Given the description of an element on the screen output the (x, y) to click on. 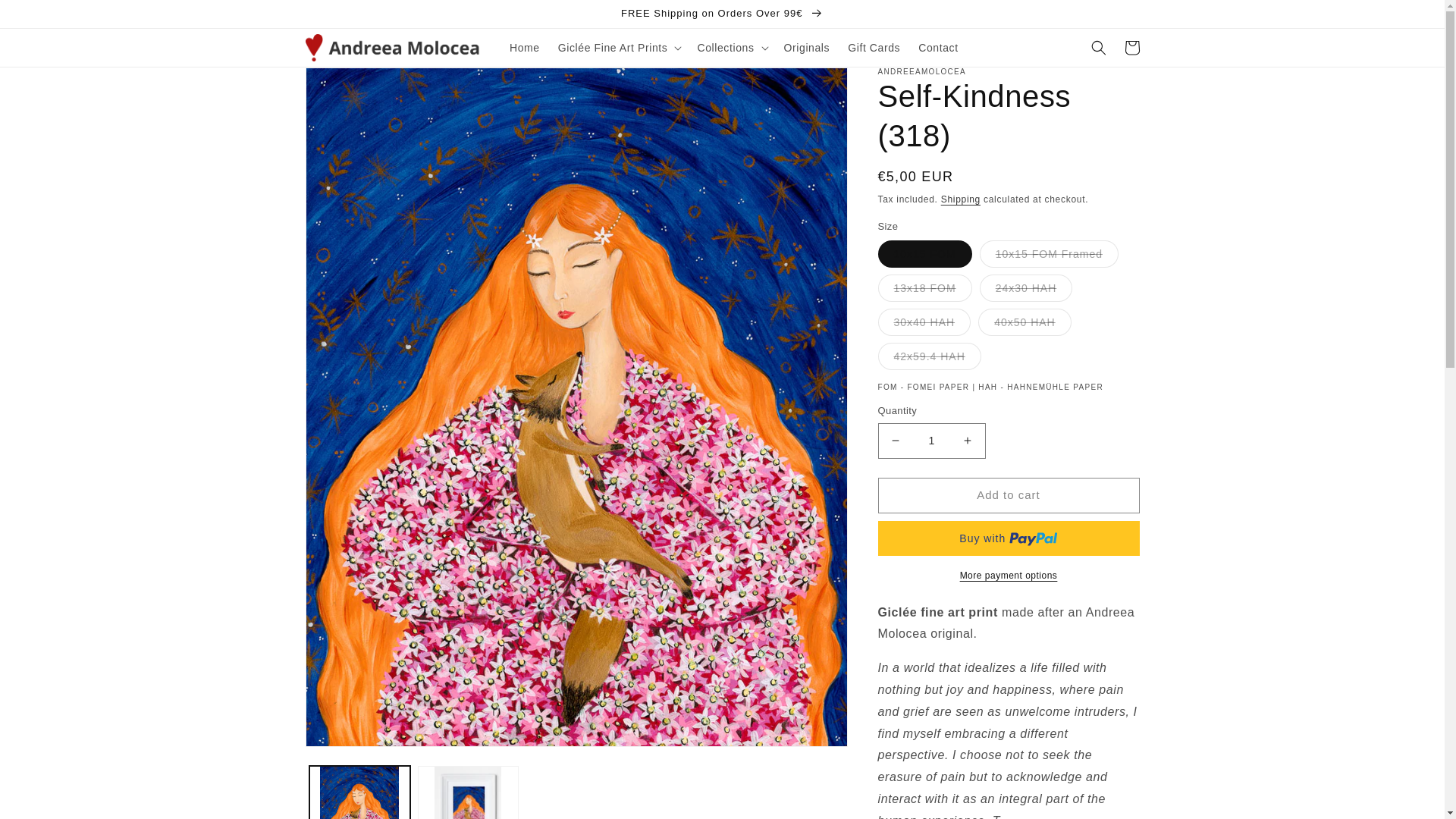
Skip to content (45, 17)
Gift Cards (873, 47)
1 (931, 440)
Cart (1131, 47)
Originals (807, 47)
Home (524, 47)
Contact (937, 47)
